Given the description of an element on the screen output the (x, y) to click on. 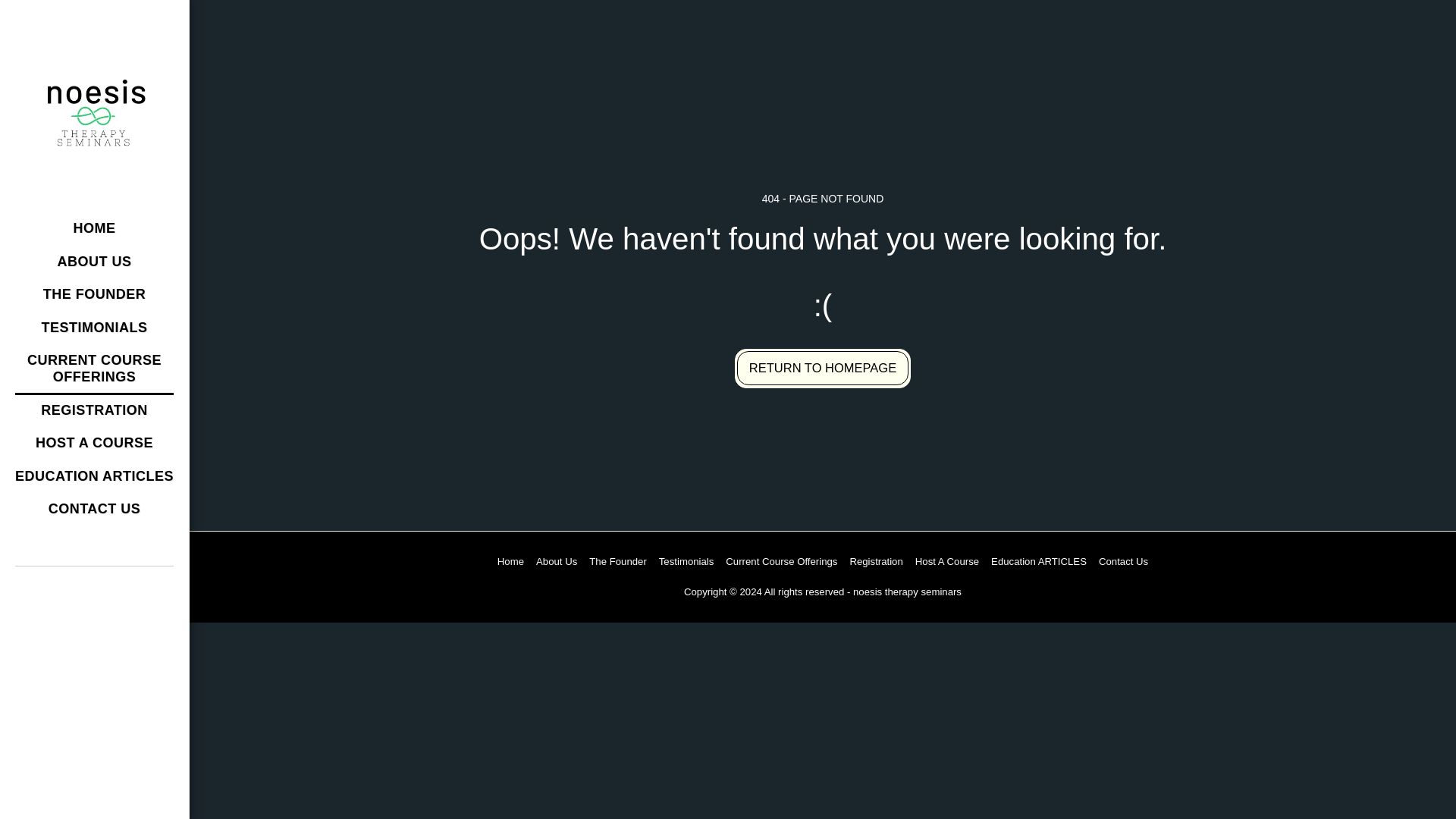
Host A Course (946, 561)
EDUCATION ARTICLES (93, 477)
HOME (93, 229)
Testimonials (686, 561)
CURRENT COURSE OFFERINGS (93, 369)
Education ARTICLES (1038, 561)
REGISTRATION (94, 411)
Home (510, 561)
The Founder (617, 561)
THE FOUNDER (95, 296)
Registration (875, 561)
RETURN TO HOMEPAGE (823, 368)
Current Course Offerings (781, 561)
Contact Us (1123, 561)
HOST A COURSE (93, 444)
